Given the description of an element on the screen output the (x, y) to click on. 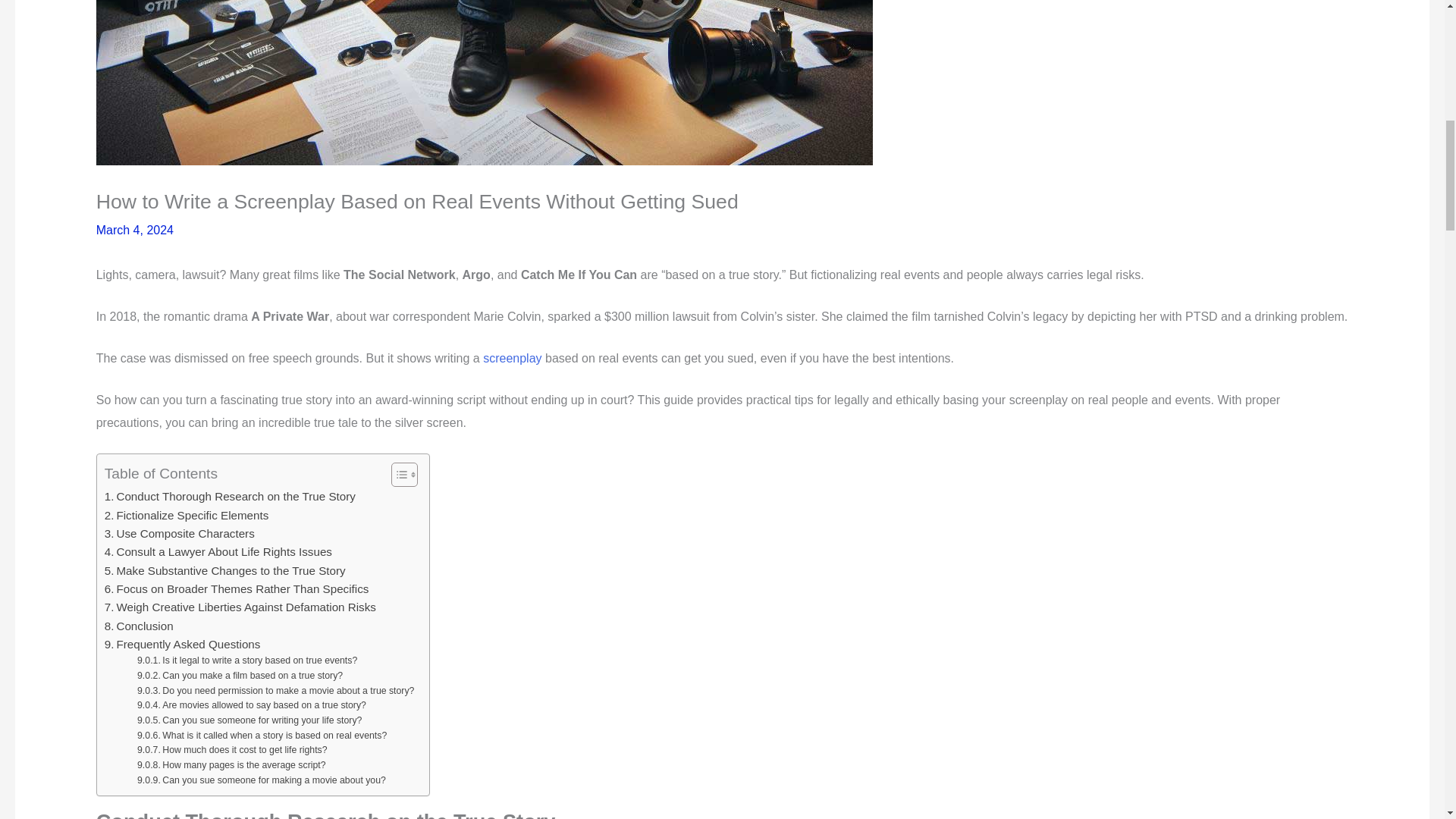
How much does it cost to get life rights? (231, 750)
What is it called when a story is based on real events? (261, 735)
Can you sue someone for making a movie about you? (260, 780)
Consult a Lawyer About Life Rights Issues (217, 551)
Fictionalize Specific Elements (186, 515)
Frequently Asked Questions (182, 644)
Make Substantive Changes to the True Story (225, 570)
Can you make a film based on a true story? (239, 676)
Use Composite Characters (179, 533)
Conclusion (138, 626)
Can you sue someone for writing your life story? (248, 720)
Conduct Thorough Research on the True Story (229, 496)
Fictionalize Specific Elements (186, 515)
Focus on Broader Themes Rather Than Specifics (236, 588)
Can you make a film based on a true story? (239, 676)
